Given the description of an element on the screen output the (x, y) to click on. 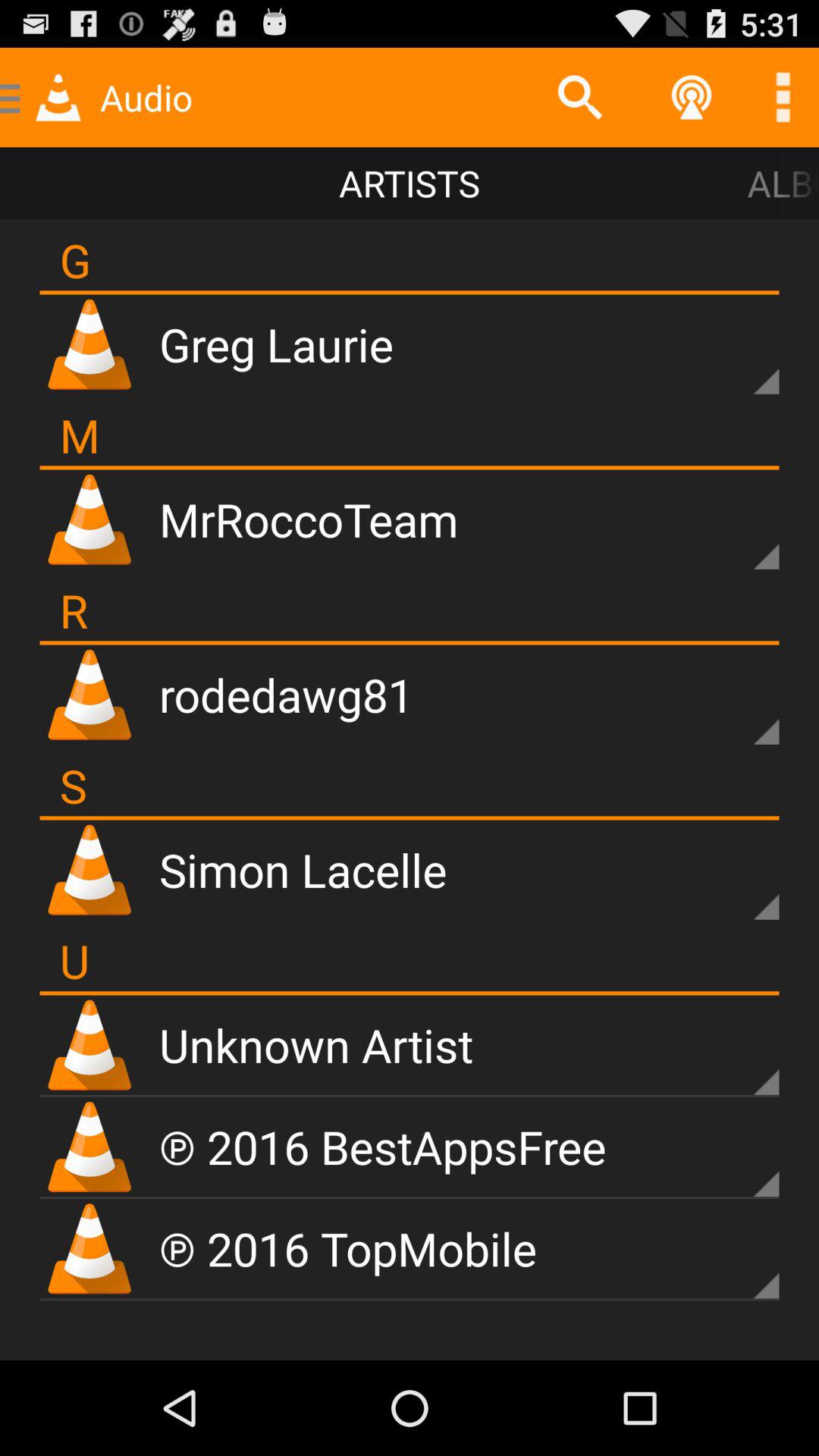
ellipse (783, 97)
